Given the description of an element on the screen output the (x, y) to click on. 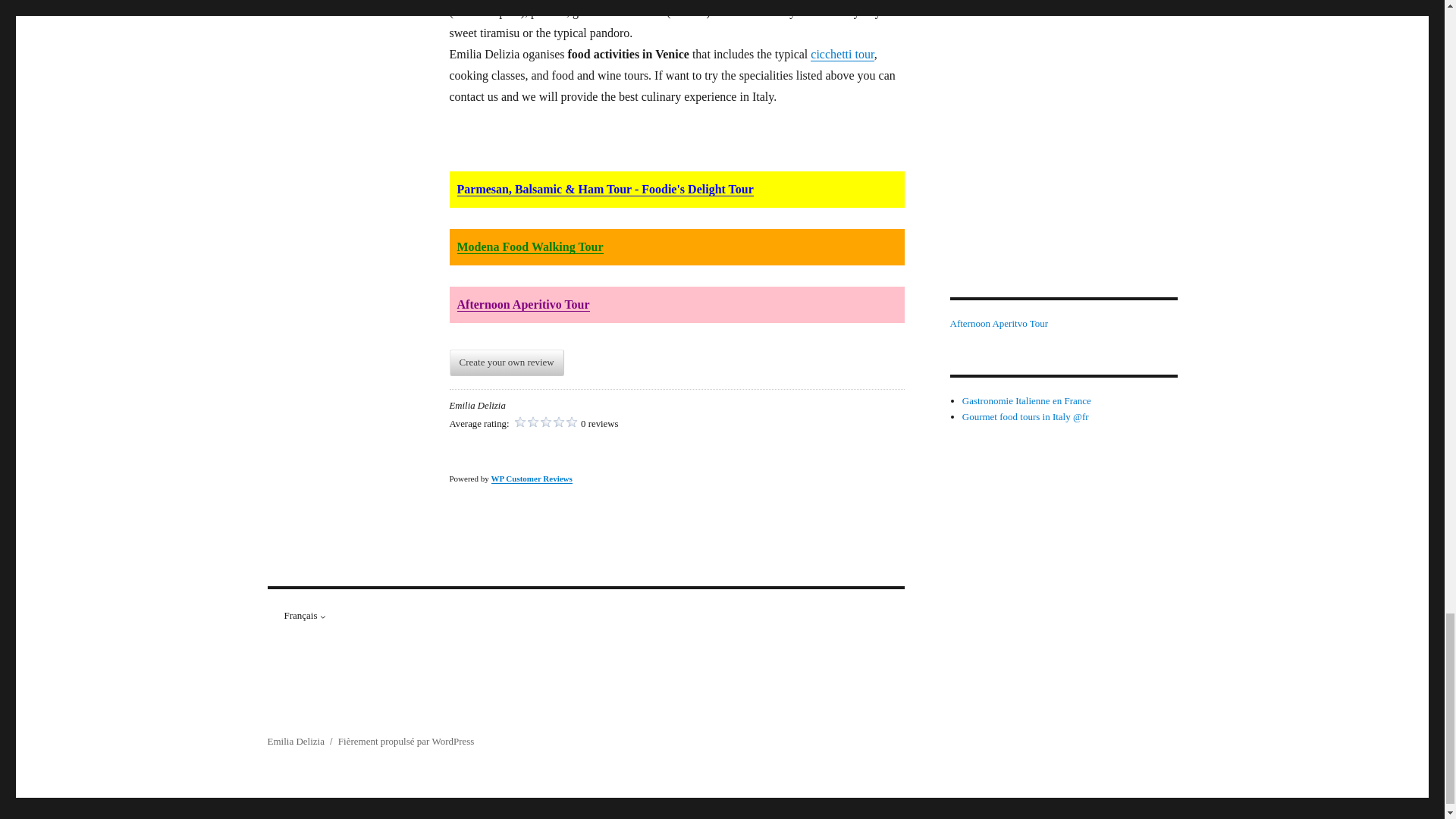
Afternoon Aperitivo Tour (523, 304)
food crawl in venice (841, 53)
cicchetti tour (841, 53)
Modena Food Walking Tour (529, 246)
WP Customer Reviews (532, 478)
